Given the description of an element on the screen output the (x, y) to click on. 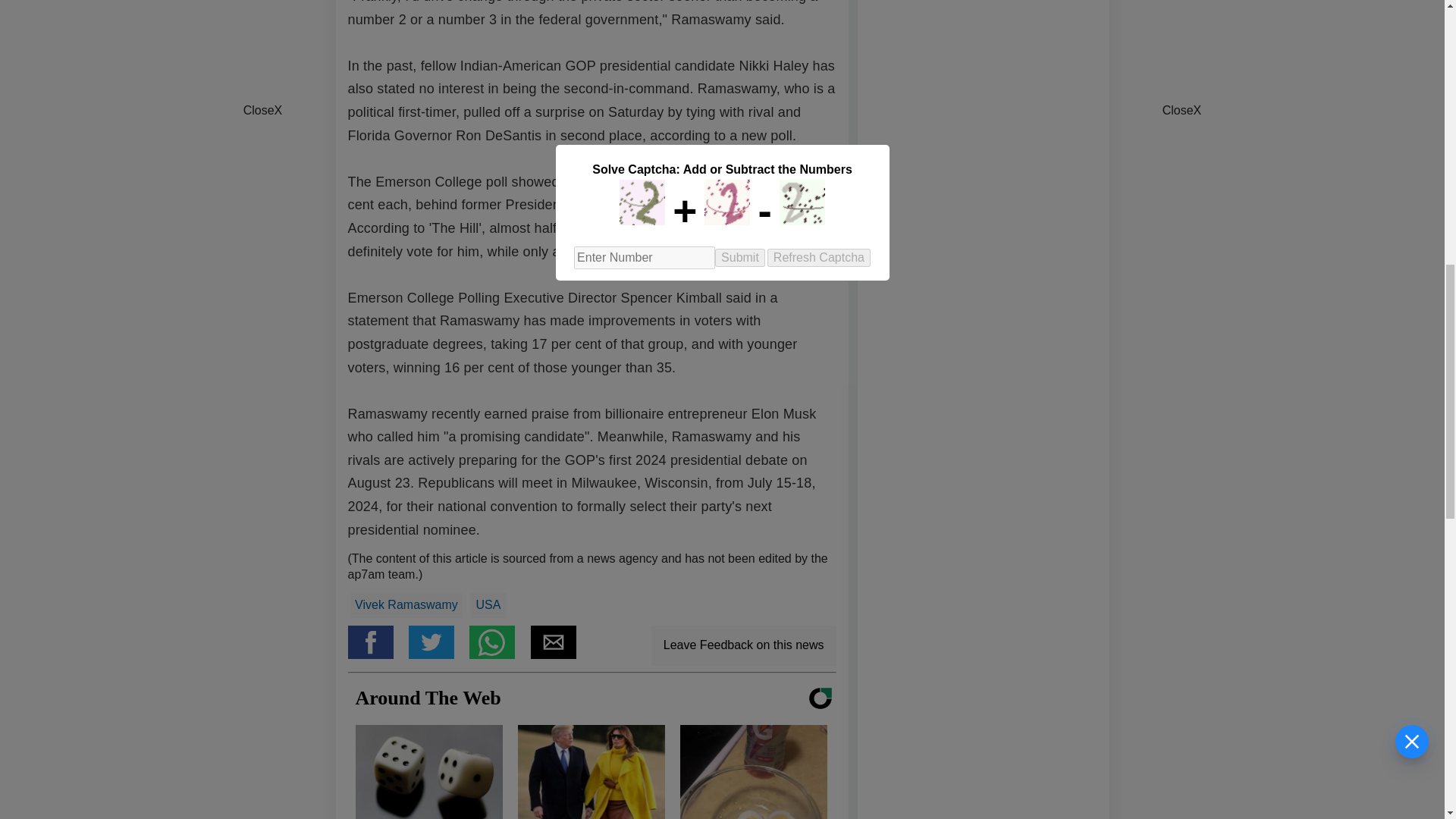
fb (377, 654)
tw (438, 654)
Vivek Ramaswamy (406, 605)
Leave Feedback on this news (742, 645)
email (559, 654)
Vivek Ramaswamy news (406, 605)
USA news (487, 605)
whatsapp (498, 654)
USA (487, 605)
